Given the description of an element on the screen output the (x, y) to click on. 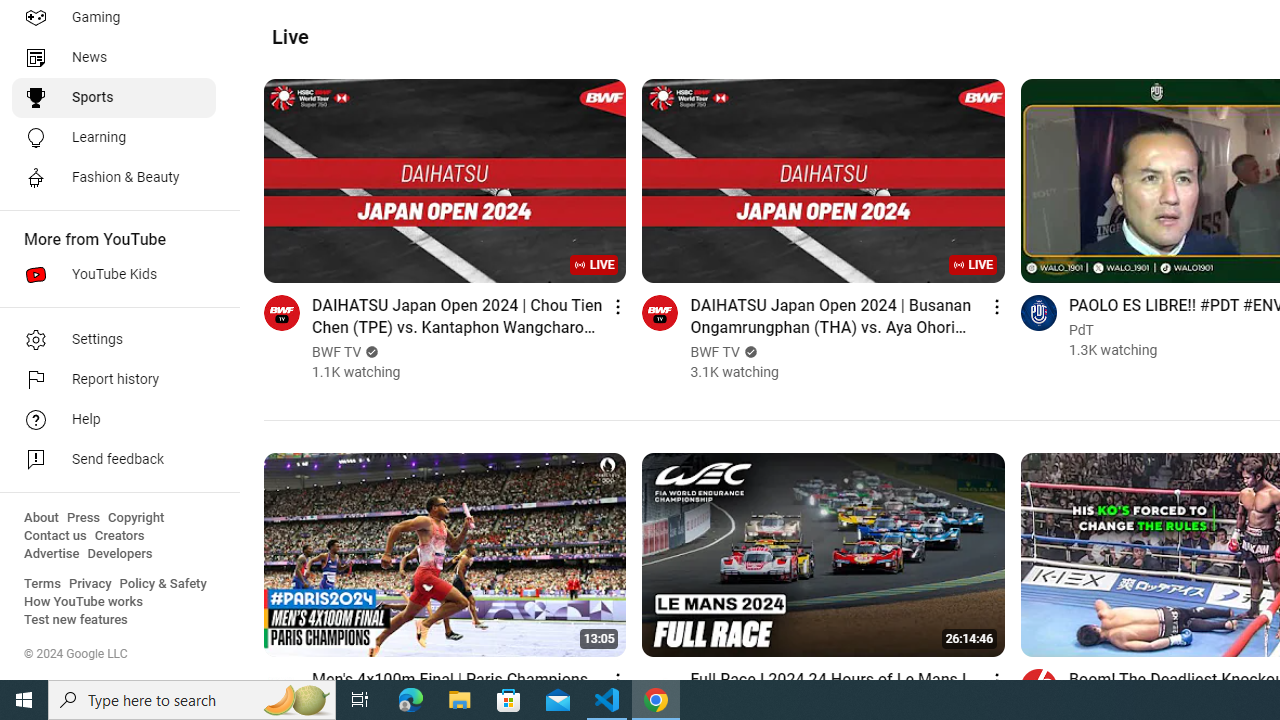
Test new features (76, 620)
Contact us (55, 536)
Action menu (996, 680)
Verified (747, 352)
PdT (1081, 330)
Copyright (136, 518)
Privacy (89, 584)
YouTube Kids (113, 274)
Settings (113, 339)
Developers (120, 554)
Learning (113, 137)
Go to channel (1038, 686)
Send feedback (113, 459)
Sports (113, 97)
